Given the description of an element on the screen output the (x, y) to click on. 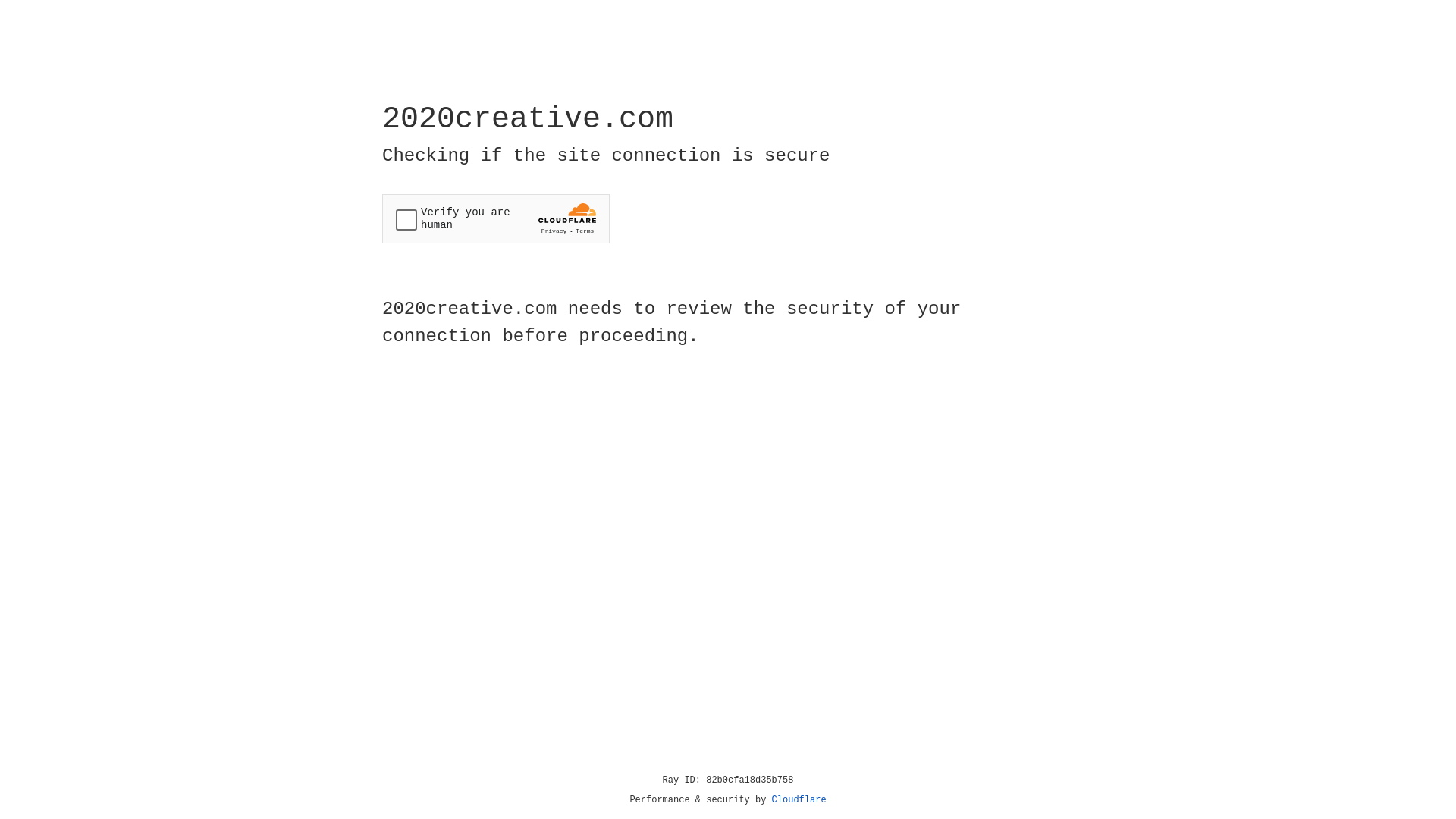
Cloudflare Element type: text (798, 799)
Widget containing a Cloudflare security challenge Element type: hover (495, 218)
